Given the description of an element on the screen output the (x, y) to click on. 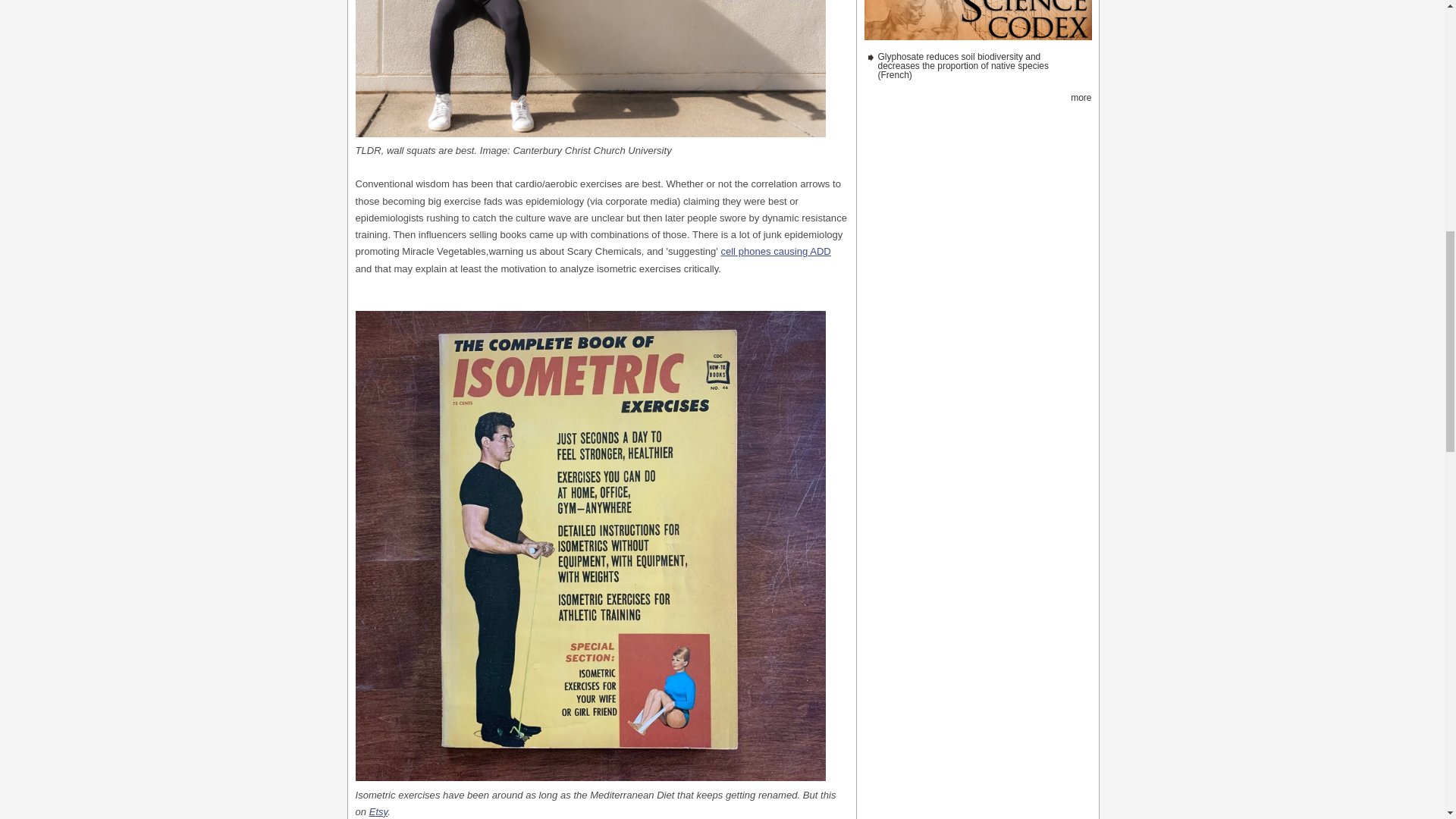
View this feed's recent news. (1080, 97)
